Given the description of an element on the screen output the (x, y) to click on. 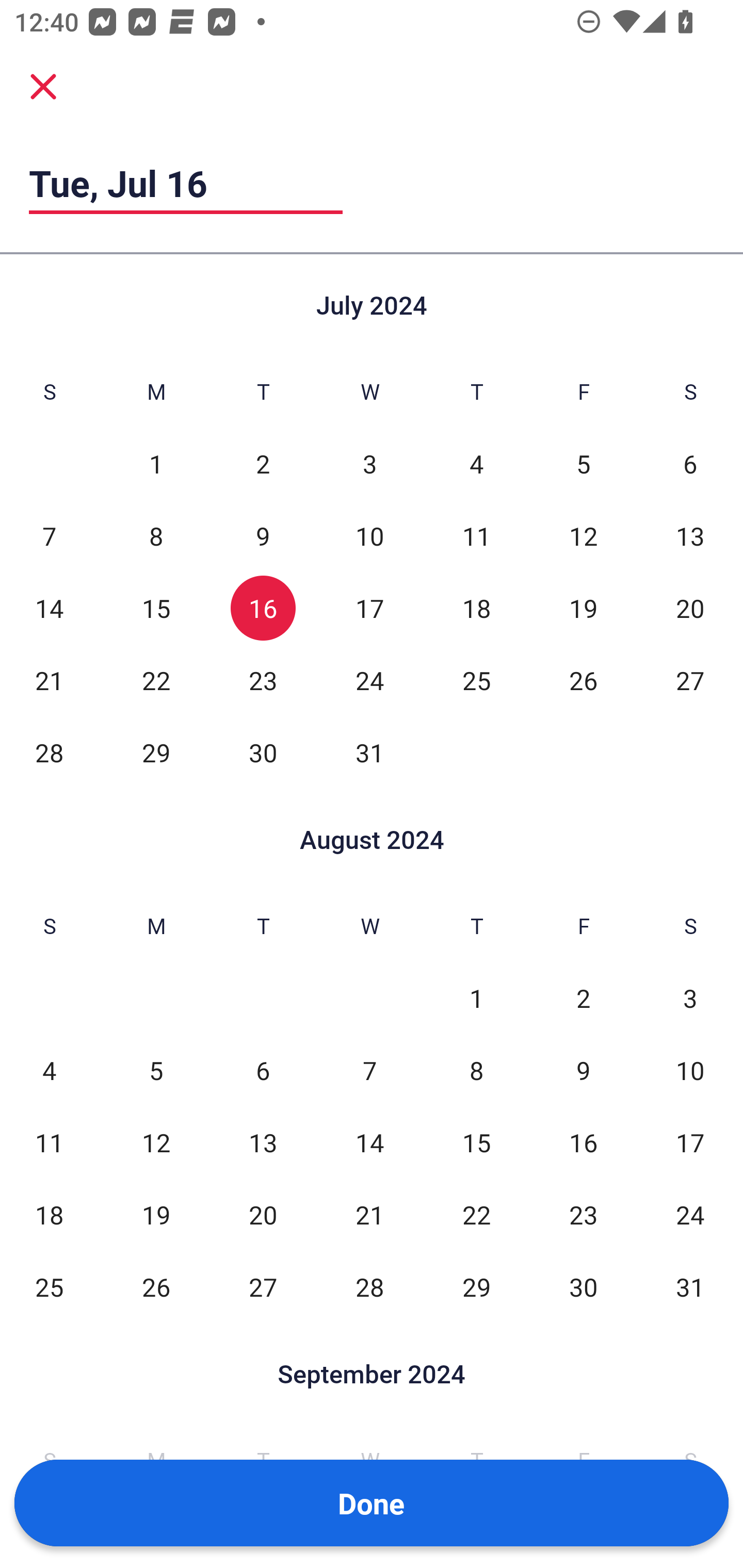
Cancel (43, 86)
Tue, Jul 16 (185, 182)
1 Mon, Jul 1, Not Selected (156, 464)
2 Tue, Jul 2, Not Selected (263, 464)
3 Wed, Jul 3, Not Selected (369, 464)
4 Thu, Jul 4, Not Selected (476, 464)
5 Fri, Jul 5, Not Selected (583, 464)
6 Sat, Jul 6, Not Selected (690, 464)
7 Sun, Jul 7, Not Selected (49, 536)
8 Mon, Jul 8, Not Selected (156, 536)
9 Tue, Jul 9, Not Selected (263, 536)
10 Wed, Jul 10, Not Selected (369, 536)
11 Thu, Jul 11, Not Selected (476, 536)
12 Fri, Jul 12, Not Selected (583, 536)
13 Sat, Jul 13, Not Selected (690, 536)
14 Sun, Jul 14, Not Selected (49, 608)
15 Mon, Jul 15, Not Selected (156, 608)
16 Tue, Jul 16, Selected (263, 608)
17 Wed, Jul 17, Not Selected (369, 608)
18 Thu, Jul 18, Not Selected (476, 608)
19 Fri, Jul 19, Not Selected (583, 608)
20 Sat, Jul 20, Not Selected (690, 608)
21 Sun, Jul 21, Not Selected (49, 680)
22 Mon, Jul 22, Not Selected (156, 680)
23 Tue, Jul 23, Not Selected (263, 680)
24 Wed, Jul 24, Not Selected (369, 680)
25 Thu, Jul 25, Not Selected (476, 680)
26 Fri, Jul 26, Not Selected (583, 680)
27 Sat, Jul 27, Not Selected (690, 680)
28 Sun, Jul 28, Not Selected (49, 752)
29 Mon, Jul 29, Not Selected (156, 752)
30 Tue, Jul 30, Not Selected (263, 752)
31 Wed, Jul 31, Not Selected (369, 752)
1 Thu, Aug 1, Not Selected (476, 997)
2 Fri, Aug 2, Not Selected (583, 997)
3 Sat, Aug 3, Not Selected (690, 997)
4 Sun, Aug 4, Not Selected (49, 1070)
5 Mon, Aug 5, Not Selected (156, 1070)
6 Tue, Aug 6, Not Selected (263, 1070)
7 Wed, Aug 7, Not Selected (369, 1070)
8 Thu, Aug 8, Not Selected (476, 1070)
9 Fri, Aug 9, Not Selected (583, 1070)
10 Sat, Aug 10, Not Selected (690, 1070)
11 Sun, Aug 11, Not Selected (49, 1143)
12 Mon, Aug 12, Not Selected (156, 1143)
13 Tue, Aug 13, Not Selected (263, 1143)
14 Wed, Aug 14, Not Selected (369, 1143)
15 Thu, Aug 15, Not Selected (476, 1143)
16 Fri, Aug 16, Not Selected (583, 1143)
17 Sat, Aug 17, Not Selected (690, 1143)
